Given the description of an element on the screen output the (x, y) to click on. 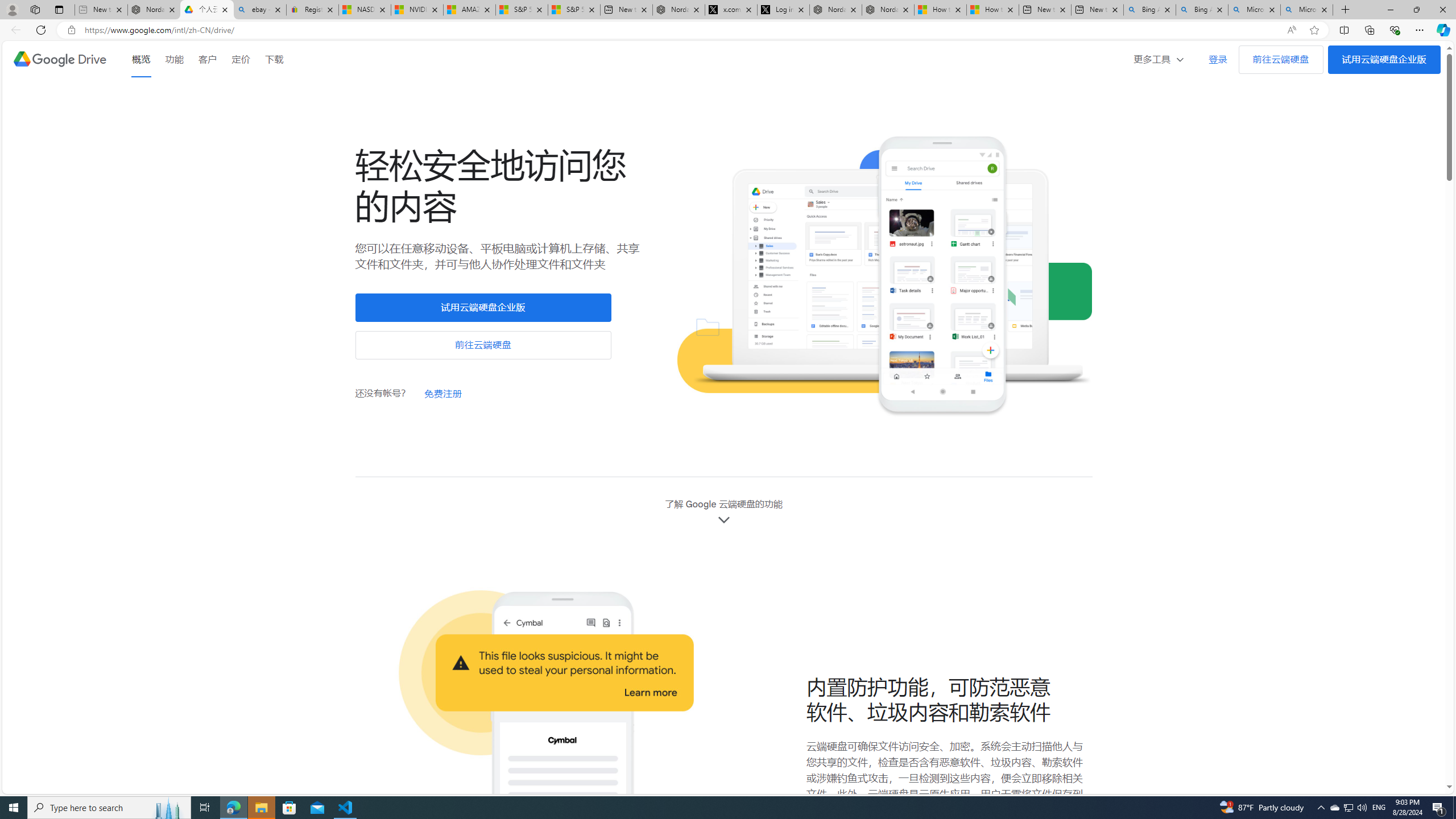
Google Drive (59, 58)
How to Use a Monitor With Your Closed Laptop (992, 9)
S&P 500, Nasdaq end lower, weighed by Nvidia dip | Watch (574, 9)
Log in to X / X (782, 9)
